Given the description of an element on the screen output the (x, y) to click on. 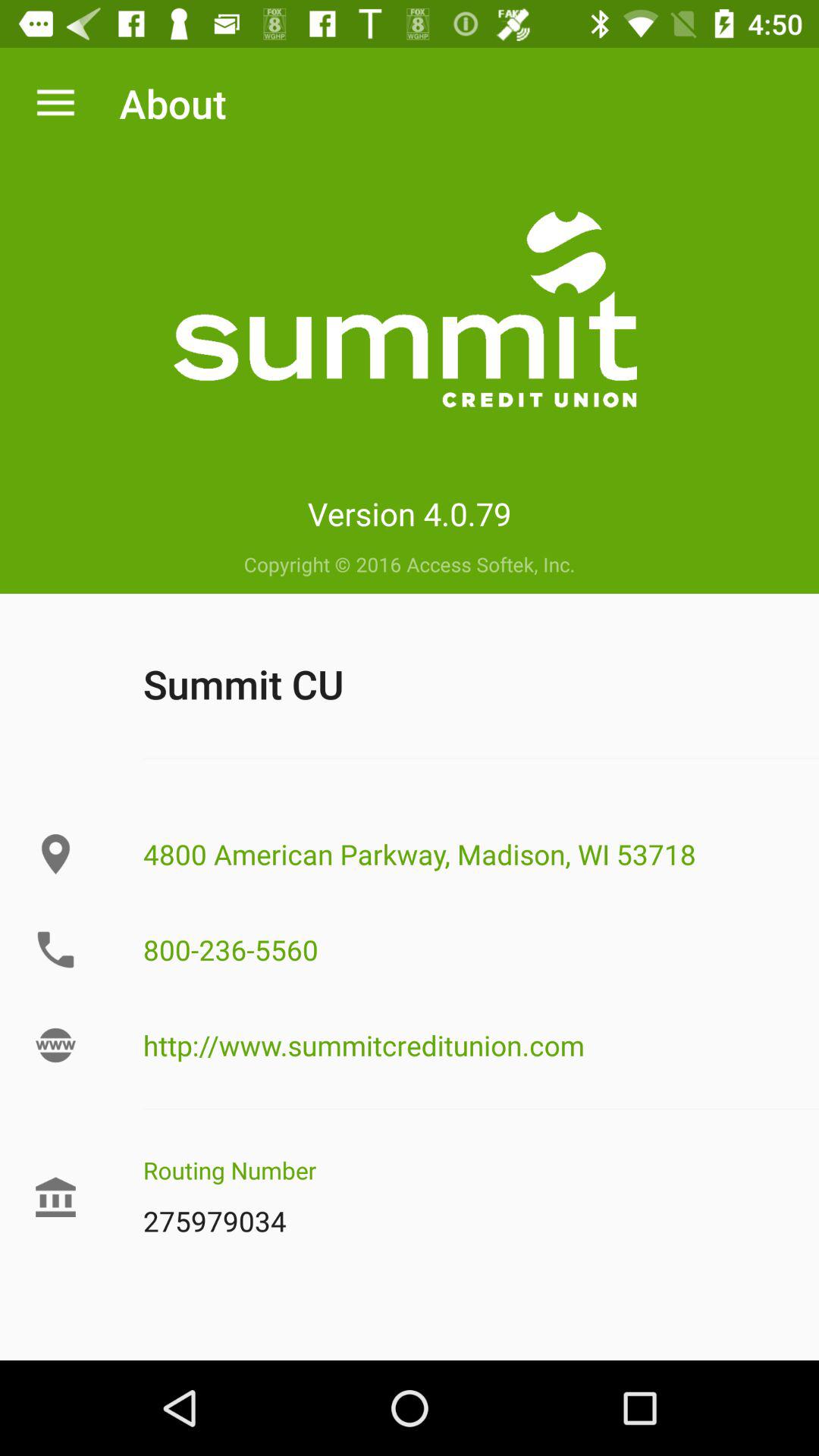
click the 4800 american parkway icon (465, 854)
